Given the description of an element on the screen output the (x, y) to click on. 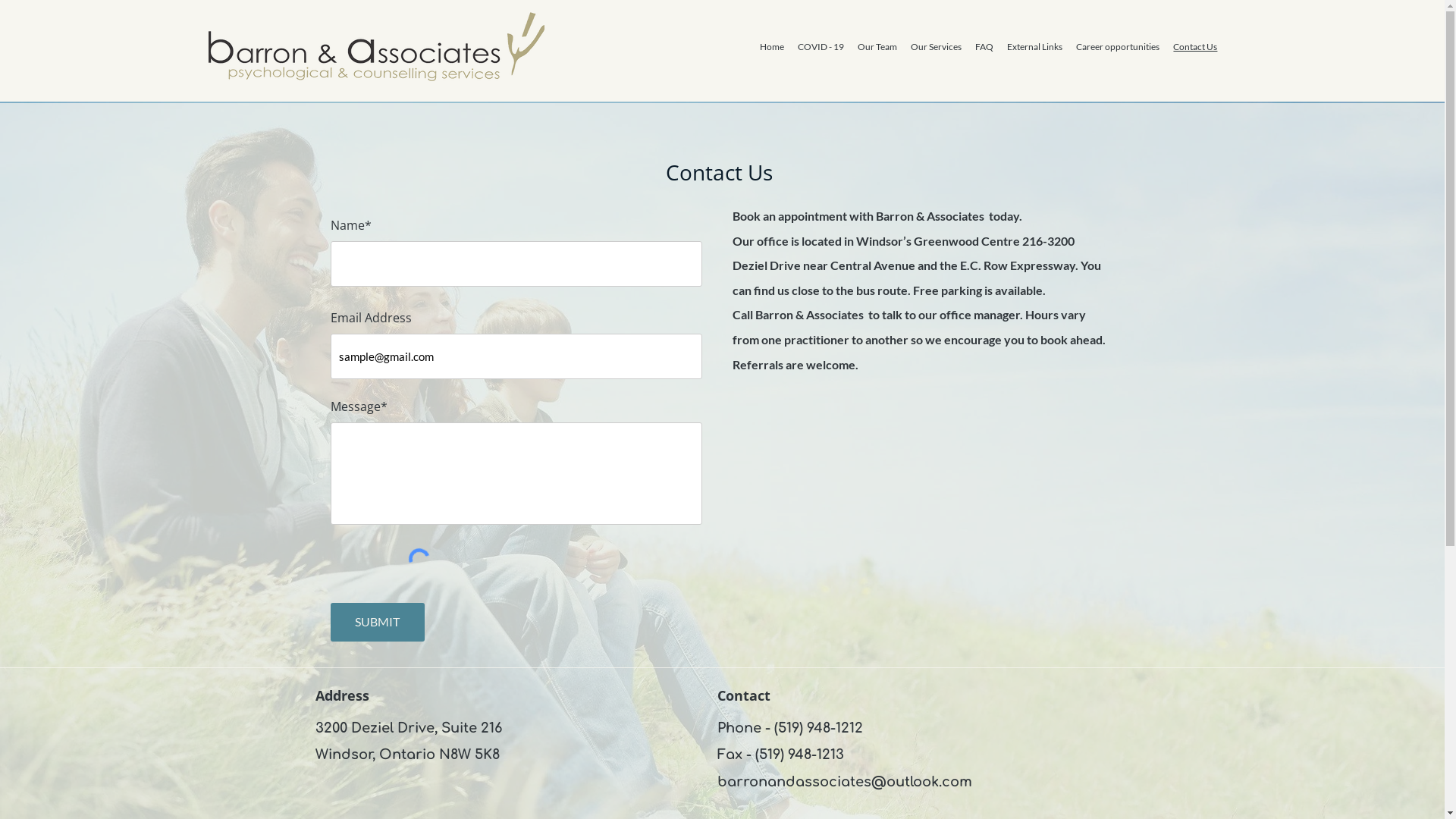
barronandassociates@outlook.com Element type: text (844, 781)
Our Services Element type: text (935, 46)
Contact Us Element type: text (1194, 46)
COVID - 19 Element type: text (820, 46)
FAQ Element type: text (984, 46)
Home Element type: text (771, 46)
Career opportunities Element type: text (1117, 46)
Our Team Element type: text (876, 46)
External Links Element type: text (1034, 46)
SUBMIT Element type: text (377, 621)
